Given the description of an element on the screen output the (x, y) to click on. 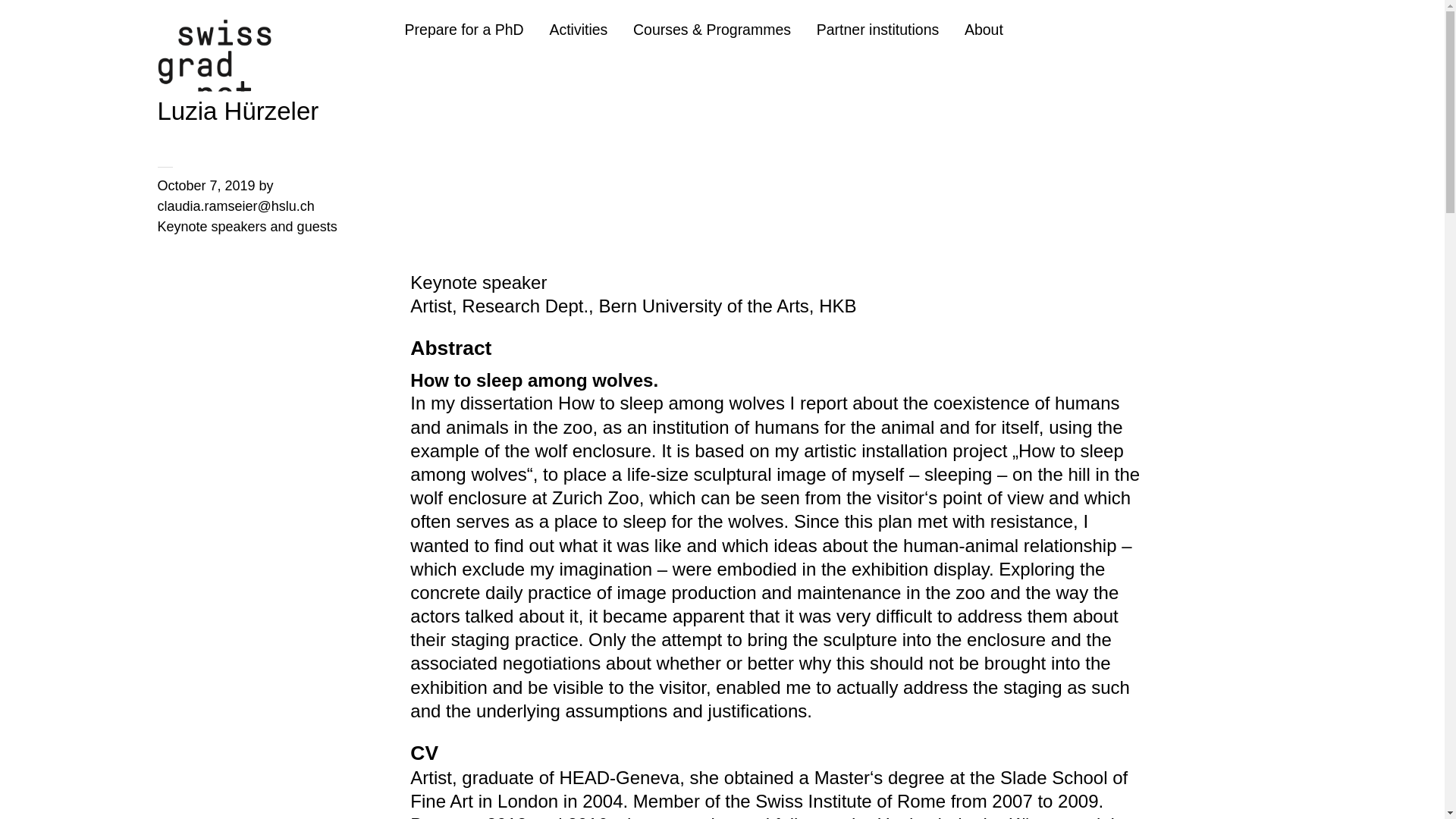
Keynote speakers and guests (247, 226)
October 7, 2019 (206, 185)
About (983, 29)
Partner institutions (877, 29)
Prepare for a PhD (464, 29)
Activities (577, 29)
